Given the description of an element on the screen output the (x, y) to click on. 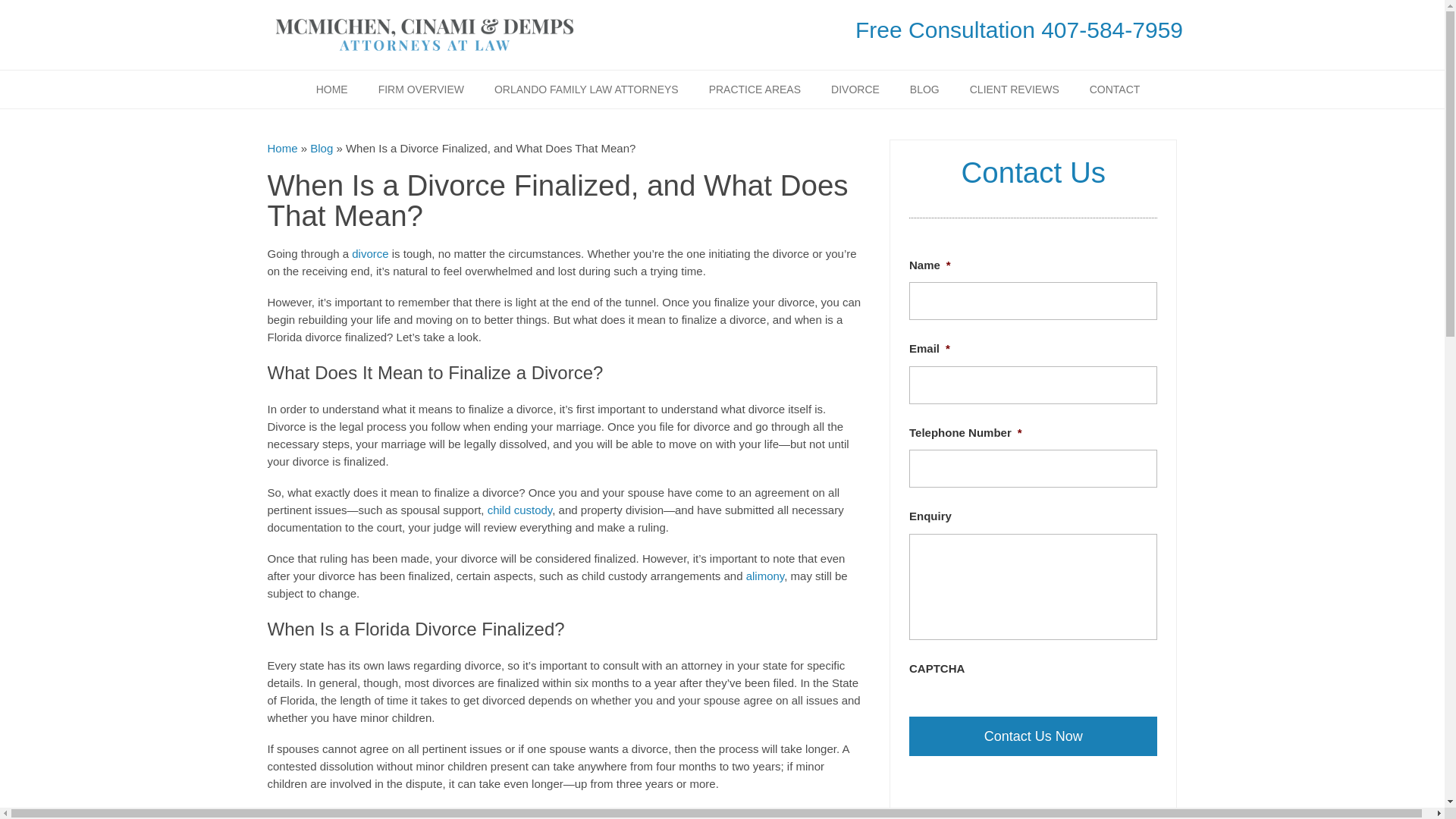
407-584-7959 (1111, 29)
FIRM OVERVIEW (420, 89)
DIVORCE (855, 89)
HOME (331, 89)
ORLANDO FAMILY LAW ATTORNEYS (586, 89)
Contact Us Now (1032, 735)
PRACTICE AREAS (754, 89)
